Given the description of an element on the screen output the (x, y) to click on. 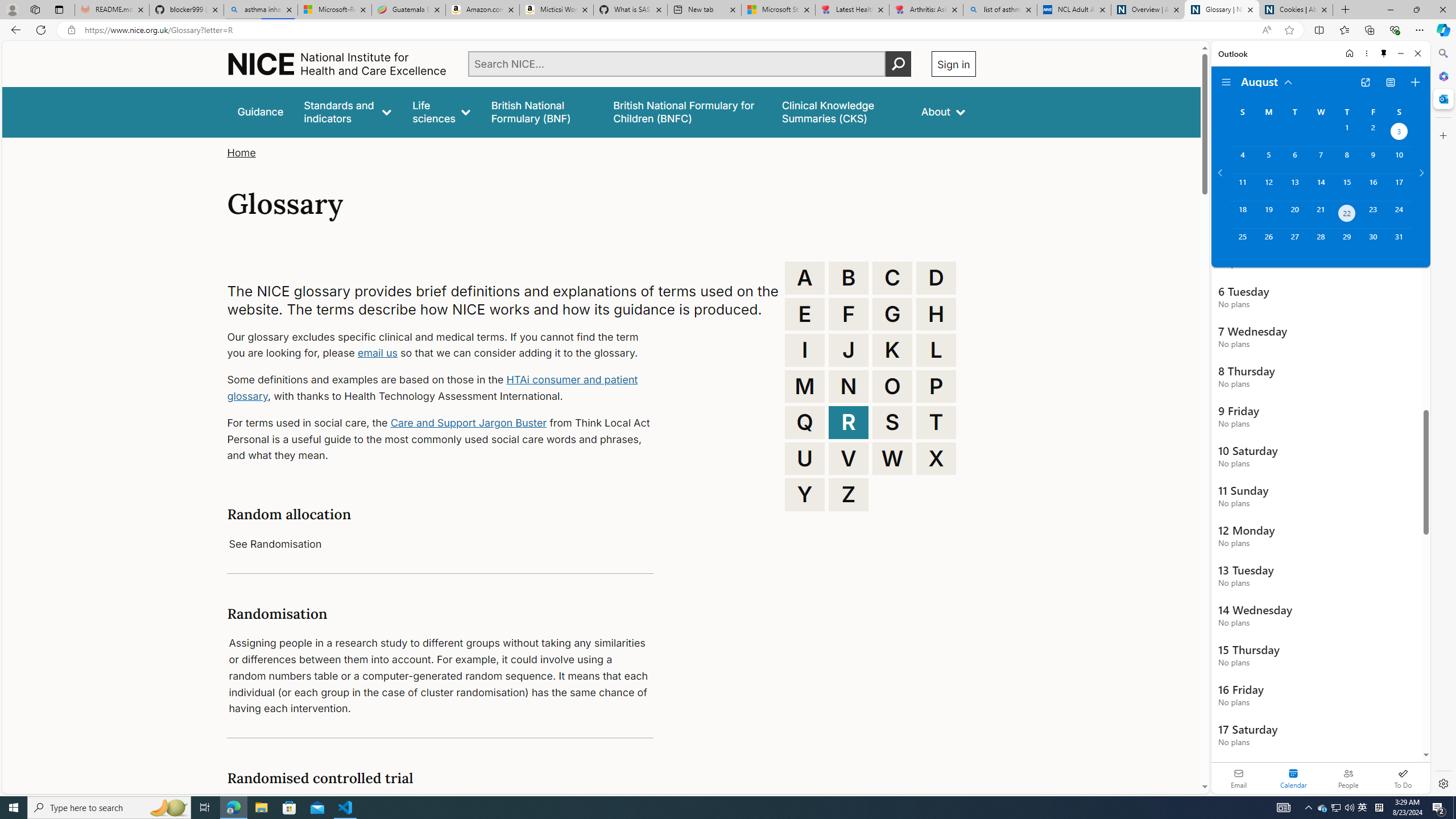
Z (848, 494)
Perform search (898, 63)
J (848, 350)
Tuesday, August 6, 2024.  (1294, 159)
Q (804, 422)
Thursday, August 29, 2024.  (1346, 241)
Q (804, 422)
O (892, 385)
Email (1238, 777)
Browser essentials (1394, 29)
Minimize (1401, 53)
